Given the description of an element on the screen output the (x, y) to click on. 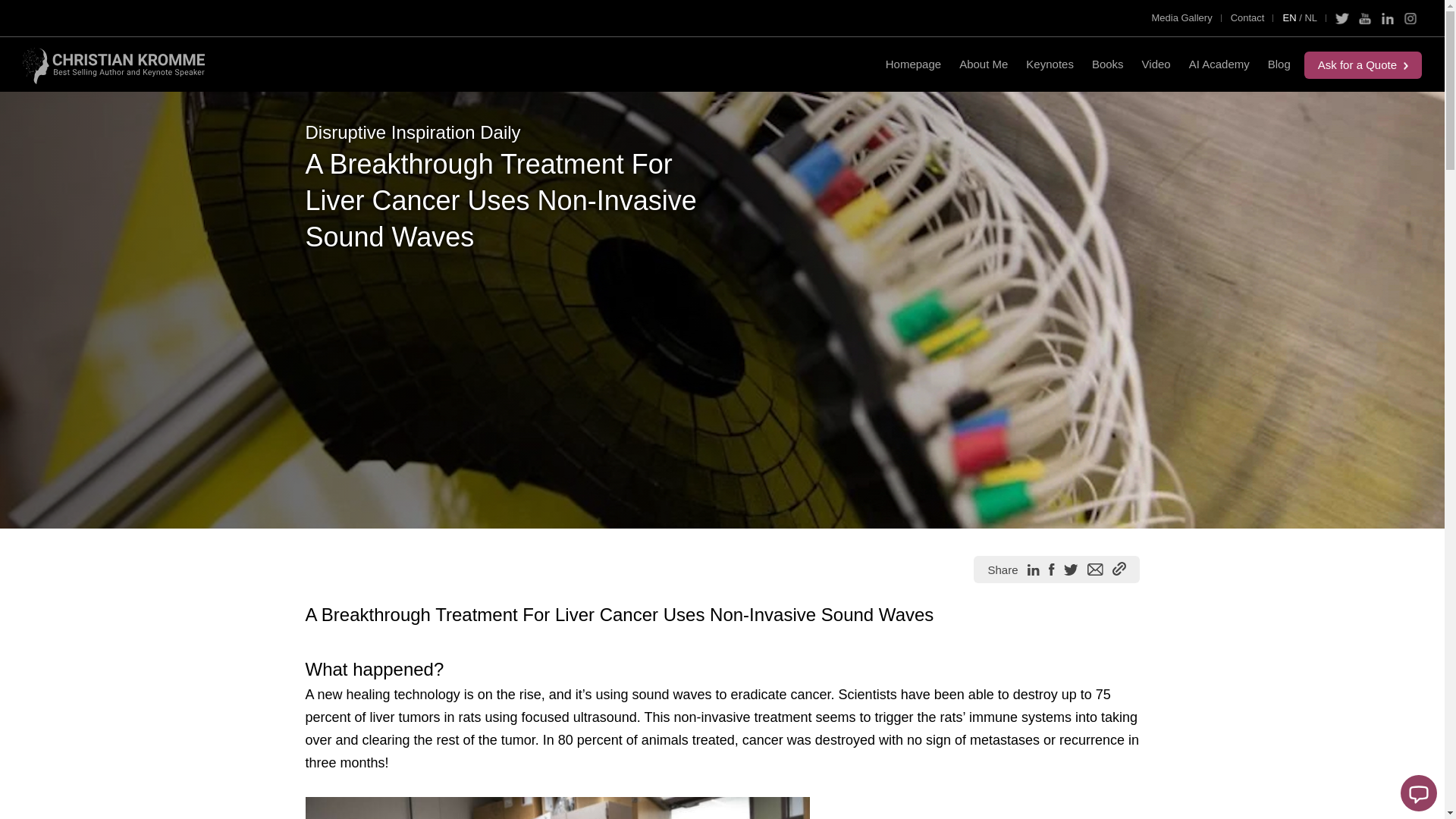
Logo Christian Kromme (114, 65)
logo (114, 64)
Blog (1279, 64)
Video (1155, 64)
Books (1107, 64)
Ask for a Quote   (1363, 64)
Ask for a Quote (1363, 64)
Keynotes (1049, 64)
EN (1283, 17)
AI Academy (1219, 64)
